Given the description of an element on the screen output the (x, y) to click on. 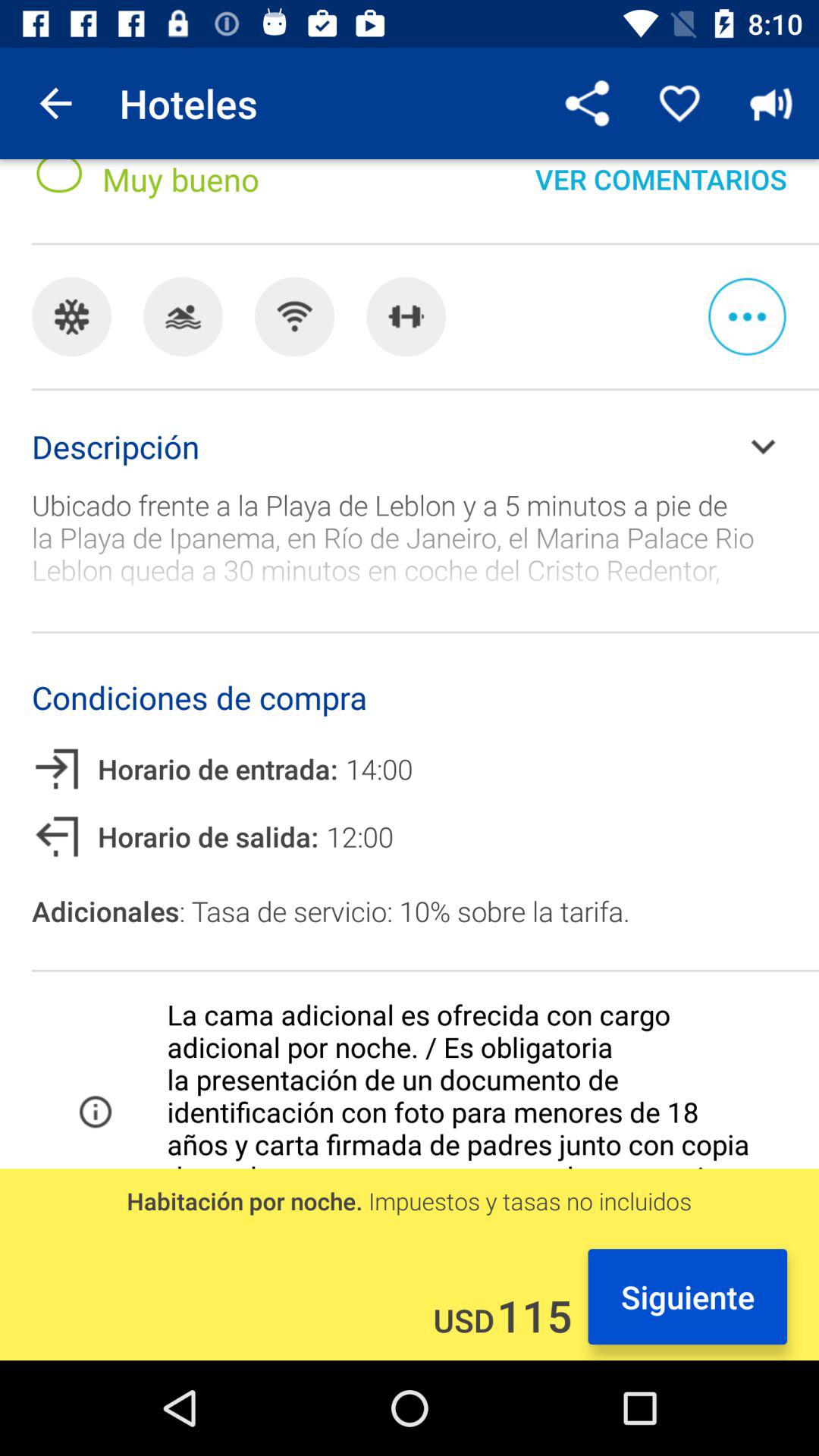
click item above the ver comentarios icon (771, 103)
